Given the description of an element on the screen output the (x, y) to click on. 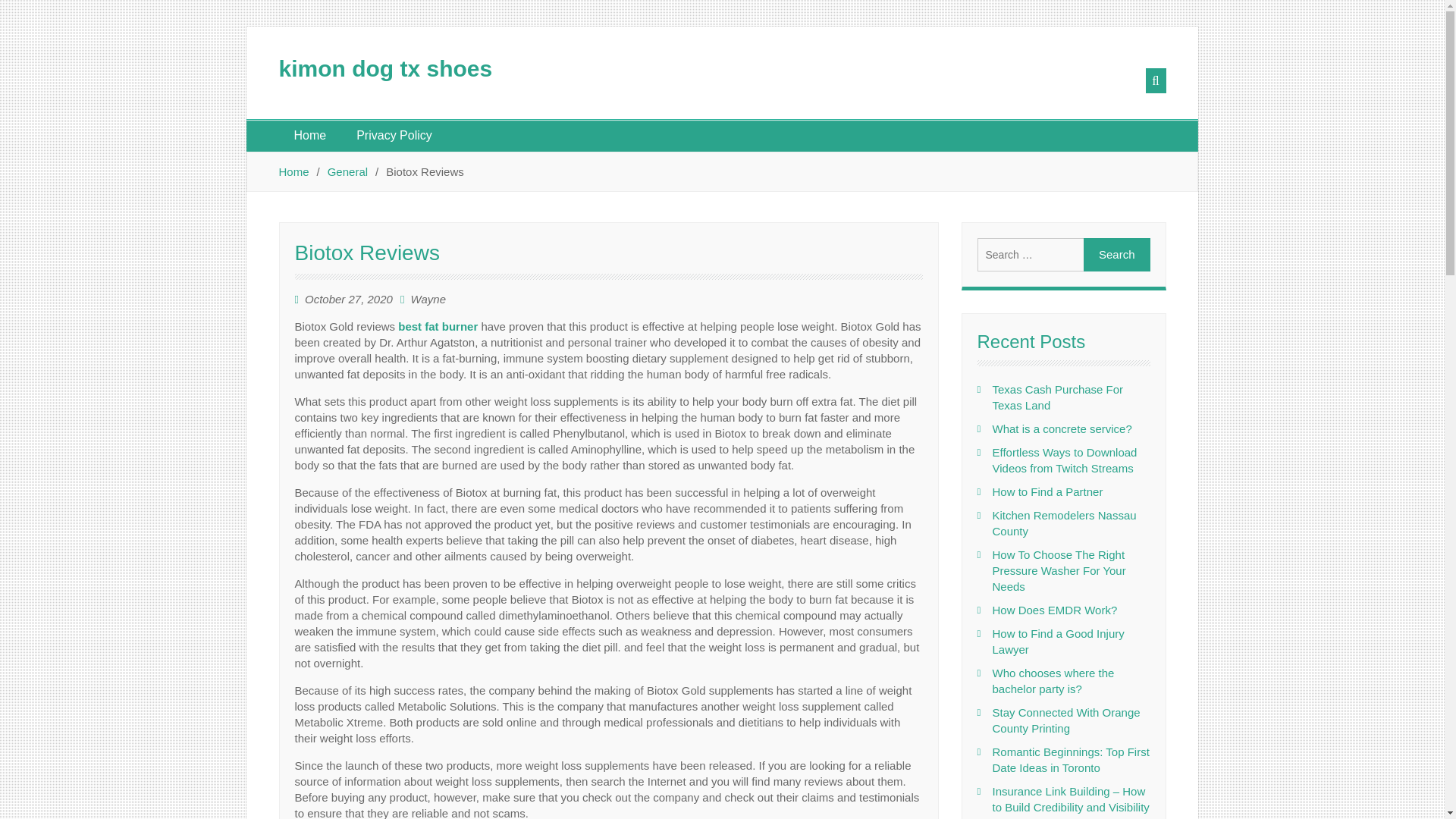
October 27, 2020 (348, 298)
Search (1116, 254)
best fat burner (437, 326)
Who chooses where the bachelor party is? (1052, 680)
Search (1116, 254)
Kitchen Remodelers Nassau County (1063, 522)
How Does EMDR Work? (1053, 609)
Stay Connected With Orange County Printing (1065, 719)
General (347, 171)
What is a concrete service? (1061, 428)
